Given the description of an element on the screen output the (x, y) to click on. 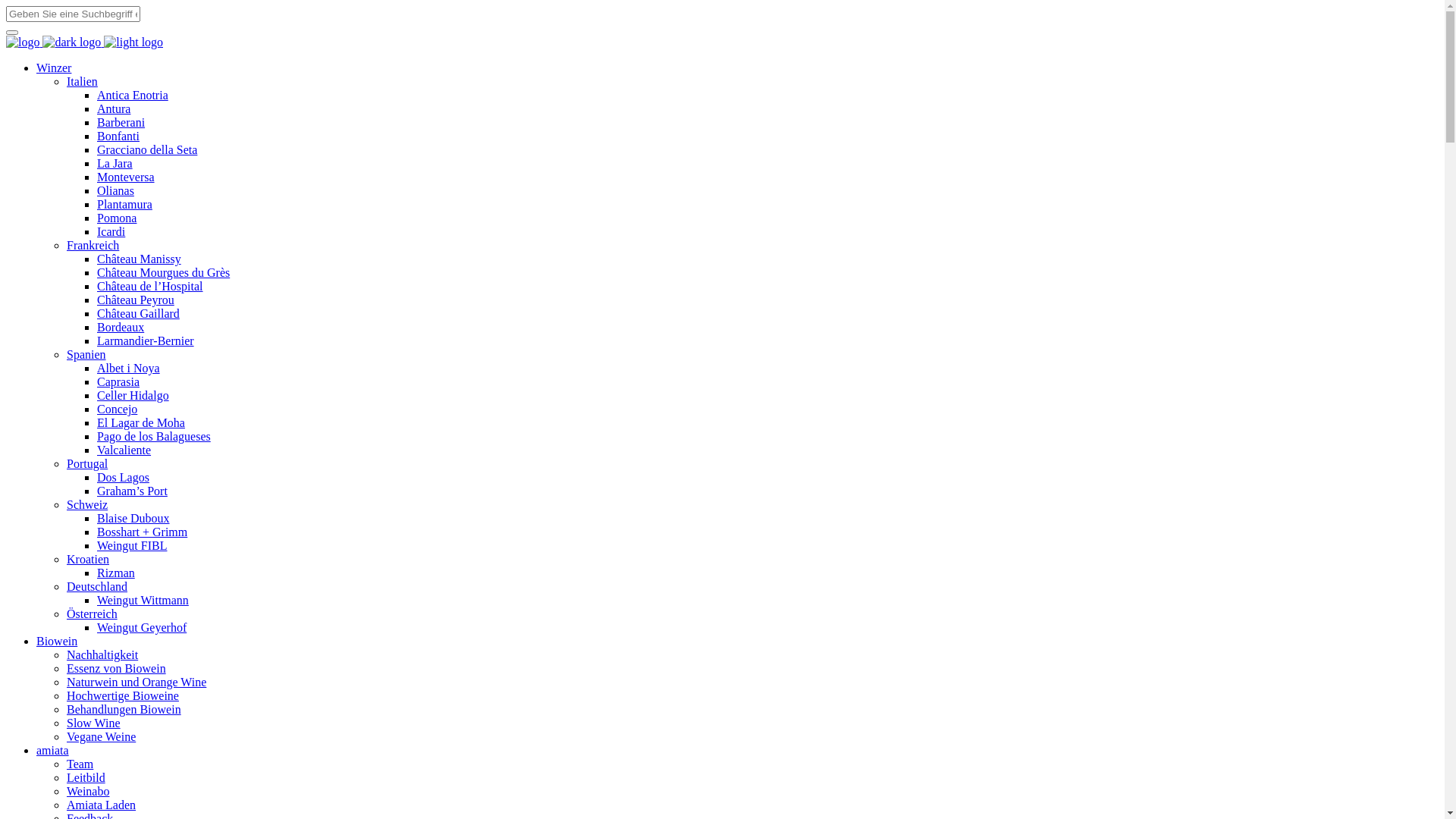
Weingut Wittmann Element type: text (142, 599)
Bosshart + Grimm Element type: text (142, 531)
Olianas Element type: text (115, 190)
Leitbild Element type: text (85, 777)
Antica Enotria Element type: text (132, 94)
Gracciano della Seta Element type: text (147, 149)
Bonfanti Element type: text (118, 135)
Barberani Element type: text (120, 122)
Spanien Element type: text (86, 354)
Weingut FIBL Element type: text (131, 545)
Italien Element type: text (81, 81)
Schweiz Element type: text (86, 504)
Hochwertige Bioweine Element type: text (122, 695)
Dos Lagos Element type: text (123, 476)
Essenz von Biowein Element type: text (116, 668)
Winzer Element type: text (53, 67)
Antura Element type: text (113, 108)
Blaise Duboux Element type: text (133, 517)
Naturwein und Orange Wine Element type: text (136, 681)
Larmandier-Bernier Element type: text (145, 340)
Deutschland Element type: text (96, 586)
Concejo Element type: text (117, 408)
El Lagar de Moha Element type: text (141, 422)
Albet i Noya Element type: text (128, 367)
Behandlungen Biowein Element type: text (123, 708)
Plantamura Element type: text (124, 203)
La Jara Element type: text (114, 162)
Vegane Weine Element type: text (100, 736)
Weinabo Element type: text (87, 790)
Team Element type: text (79, 763)
Caprasia Element type: text (118, 381)
Rizman Element type: text (115, 572)
Icardi Element type: text (111, 231)
Amiata Laden Element type: text (100, 804)
Pomona Element type: text (116, 217)
Weingut Geyerhof Element type: text (141, 627)
amiata Element type: text (52, 749)
Frankreich Element type: text (92, 244)
Portugal Element type: text (86, 463)
Bordeaux Element type: text (120, 326)
Celler Hidalgo Element type: text (133, 395)
Kroatien Element type: text (87, 558)
Slow Wine Element type: text (93, 722)
Nachhaltigkeit Element type: text (102, 654)
Valcaliente Element type: text (123, 449)
Biowein Element type: text (56, 640)
Pago de los Balagueses Element type: text (153, 435)
Monteversa Element type: text (125, 176)
